Given the description of an element on the screen output the (x, y) to click on. 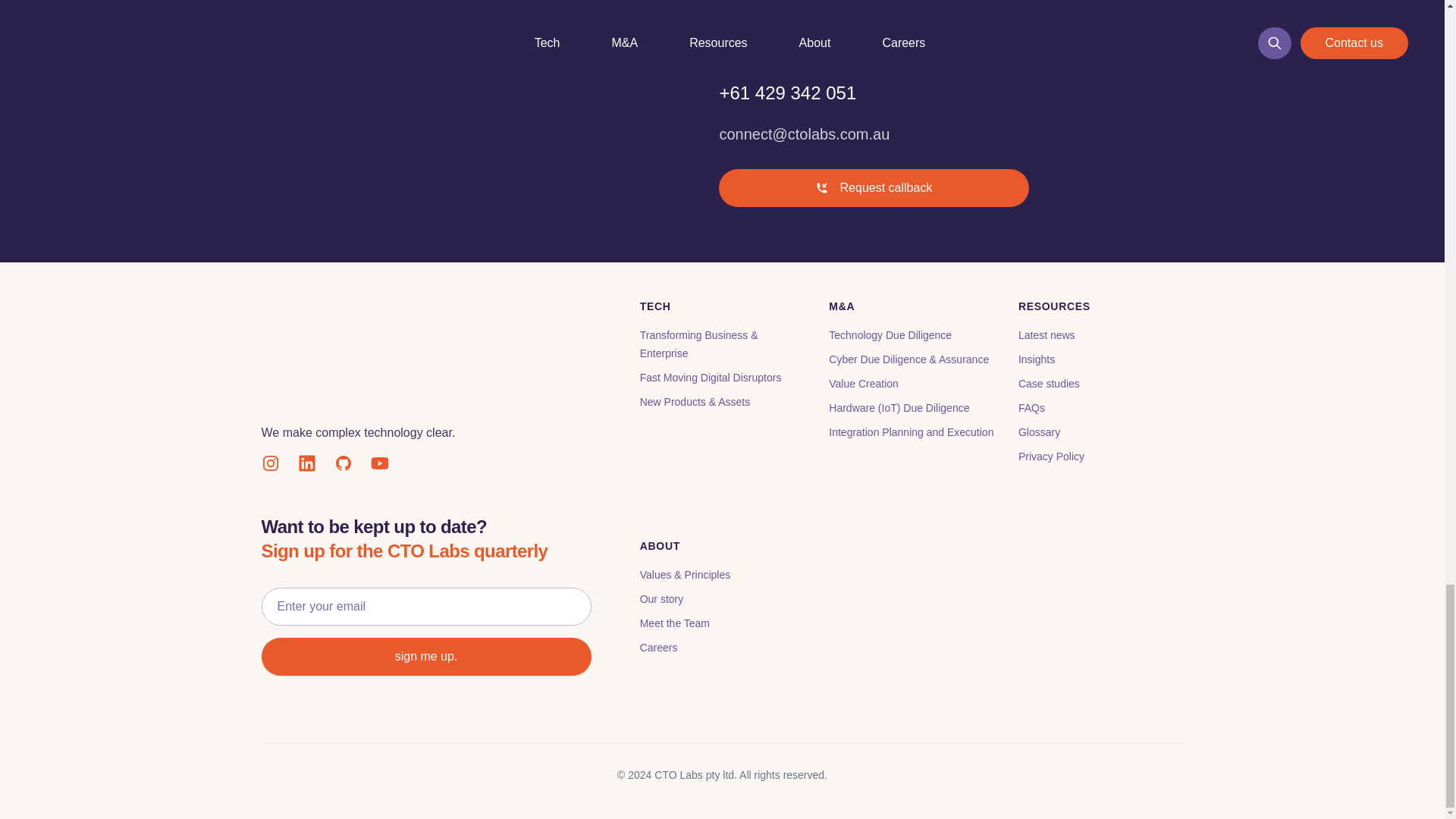
Insights (1035, 358)
LinkedIn (306, 463)
Technology Due Diligence (890, 335)
Meet the Team (675, 623)
RESOURCES (1100, 305)
Fast Moving Digital Disruptors (710, 377)
Glossary (1038, 431)
Case studies (1048, 383)
Latest news (1046, 335)
Value Creation (863, 383)
TECH (722, 305)
GitHub (342, 463)
Our story (662, 598)
ABOUT (722, 545)
Youtube (378, 463)
